Given the description of an element on the screen output the (x, y) to click on. 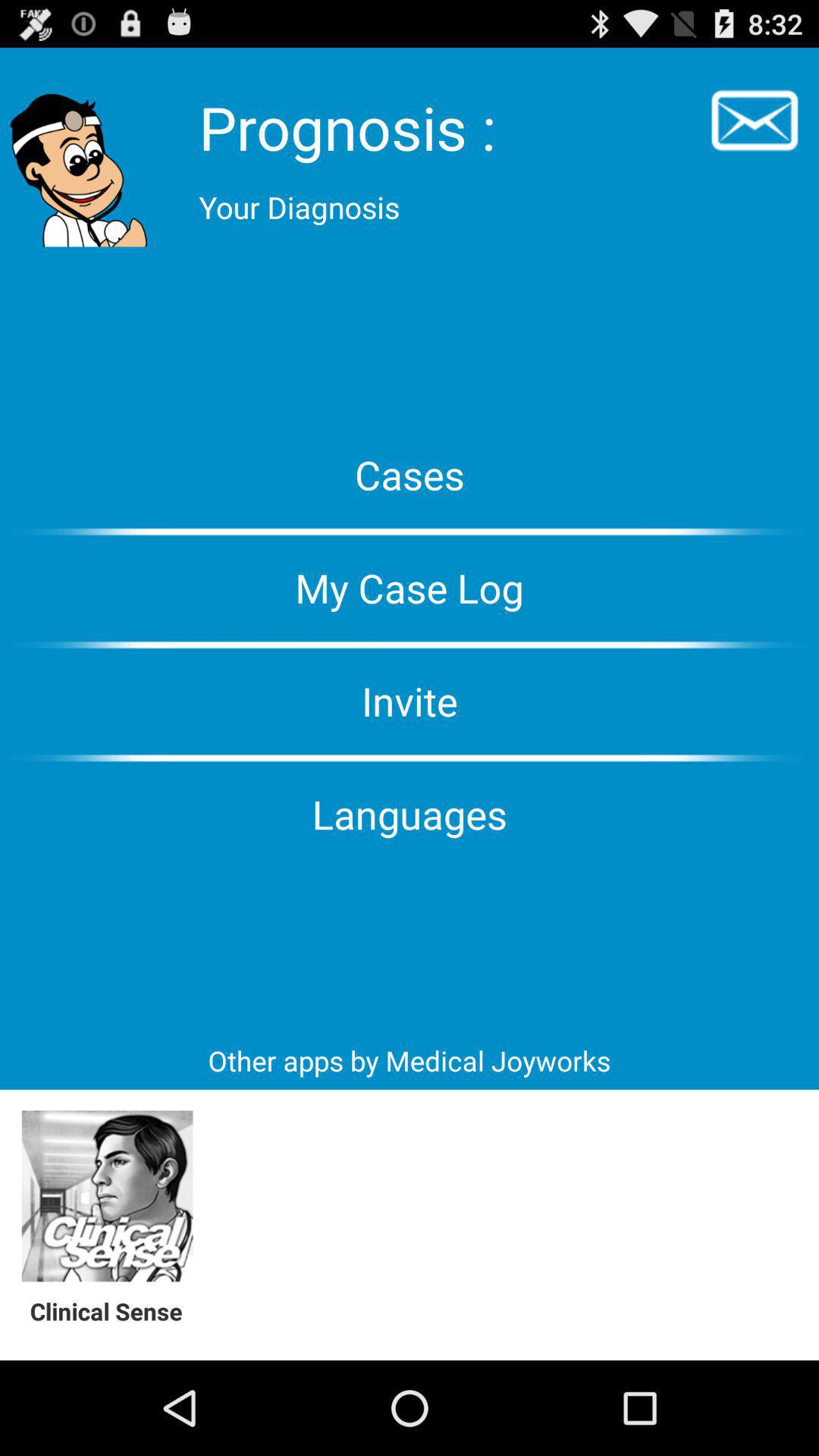
select item above clinical sense icon (107, 1196)
